Given the description of an element on the screen output the (x, y) to click on. 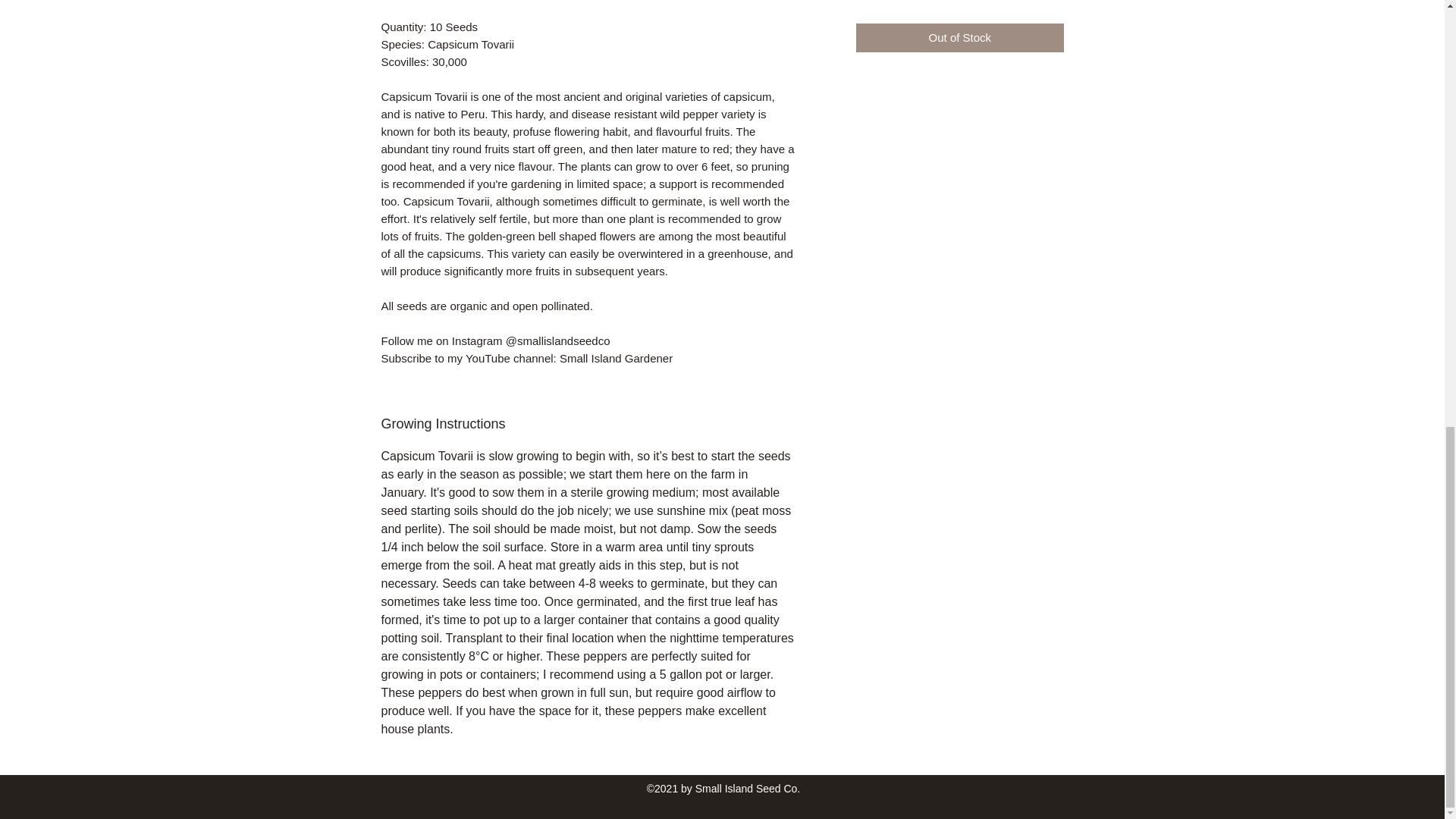
Out of Stock (959, 38)
